Given the description of an element on the screen output the (x, y) to click on. 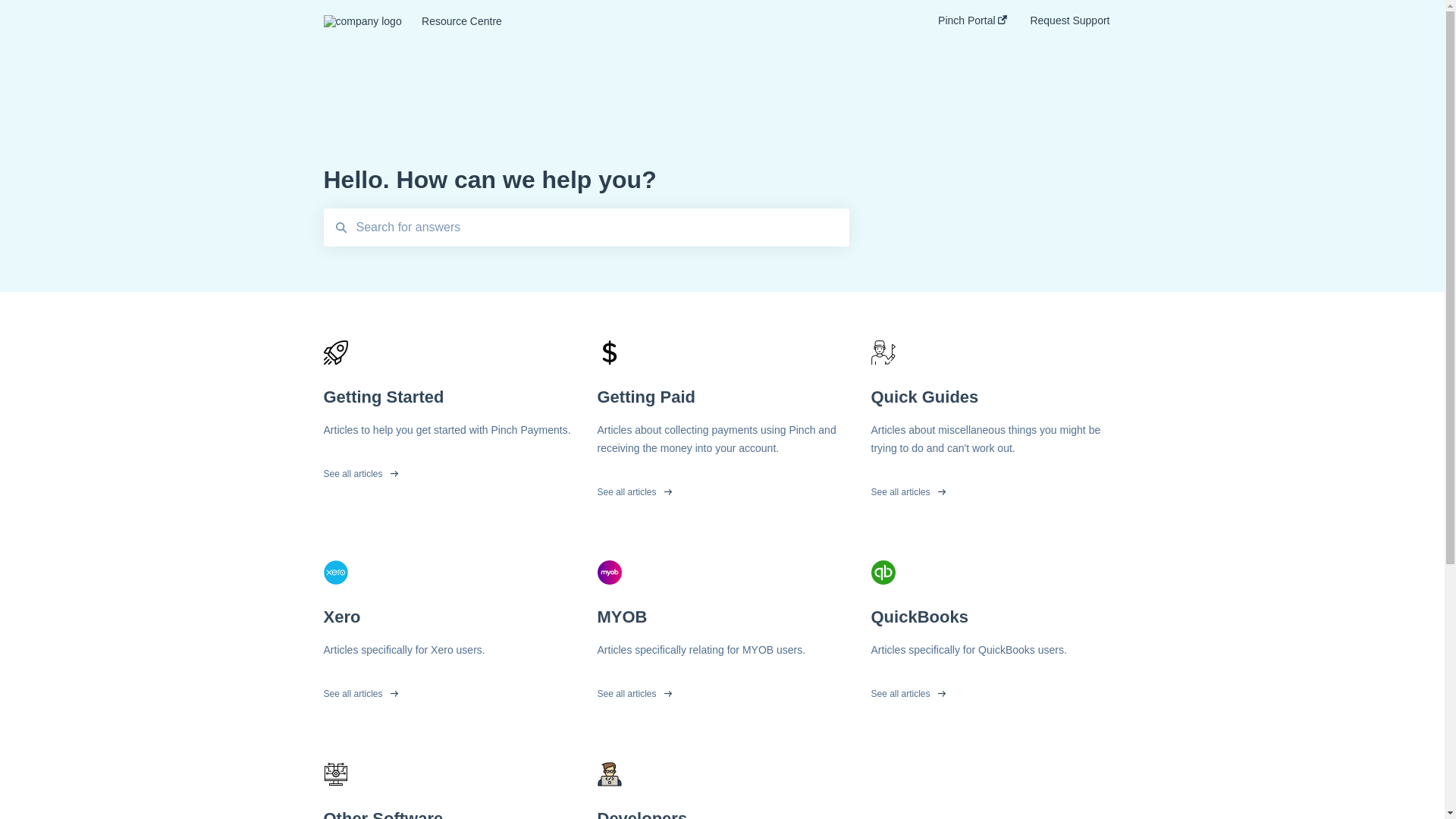
See all articles Element type: text (722, 690)
See all articles Element type: text (448, 690)
See all articles Element type: text (995, 690)
See all articles Element type: text (722, 488)
Resource Centre Element type: text (656, 21)
See all articles Element type: text (995, 488)
See all articles Element type: text (448, 470)
